Given the description of an element on the screen output the (x, y) to click on. 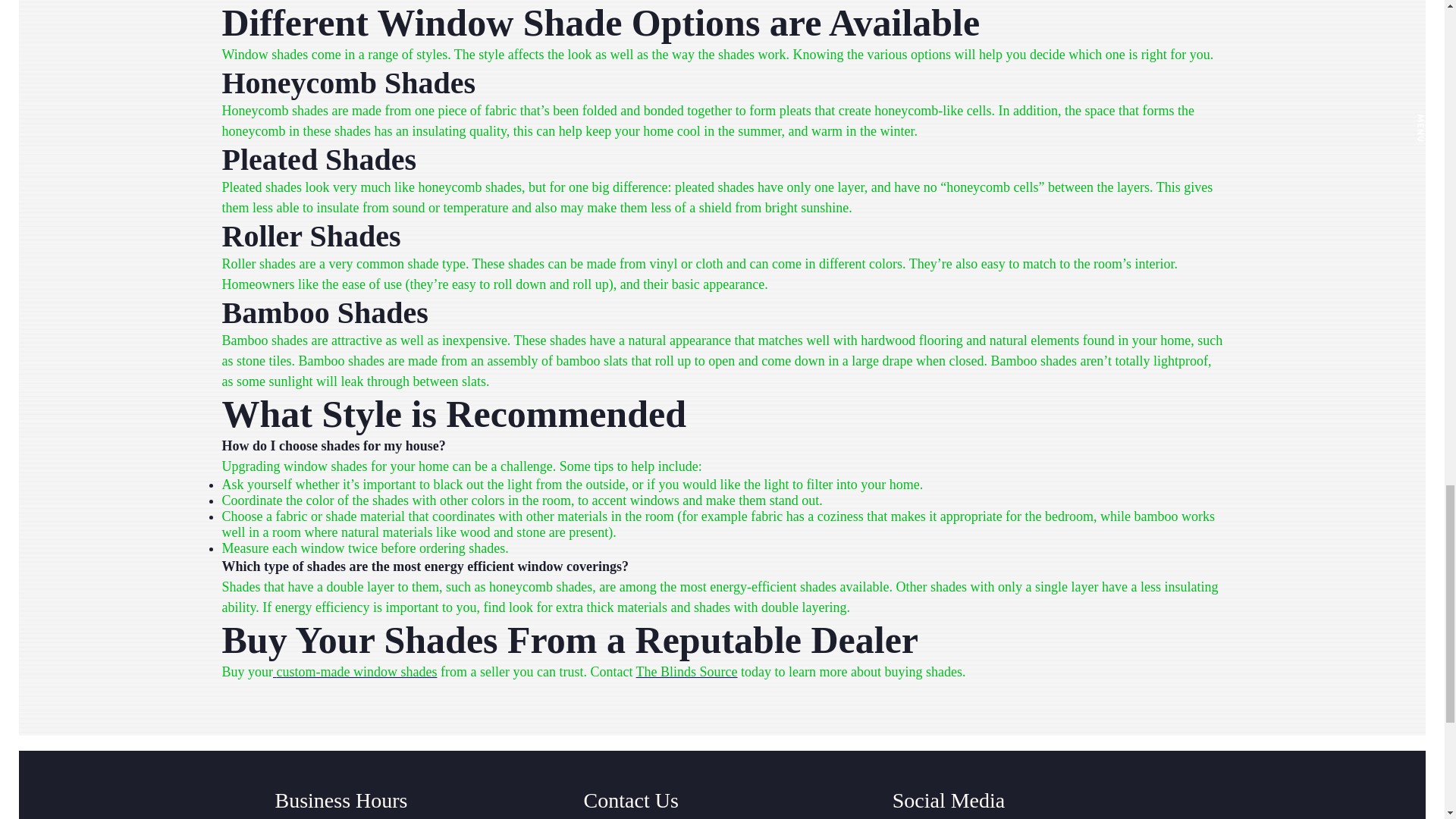
The Blinds Source (687, 671)
custom-made window shades (354, 671)
